Given the description of an element on the screen output the (x, y) to click on. 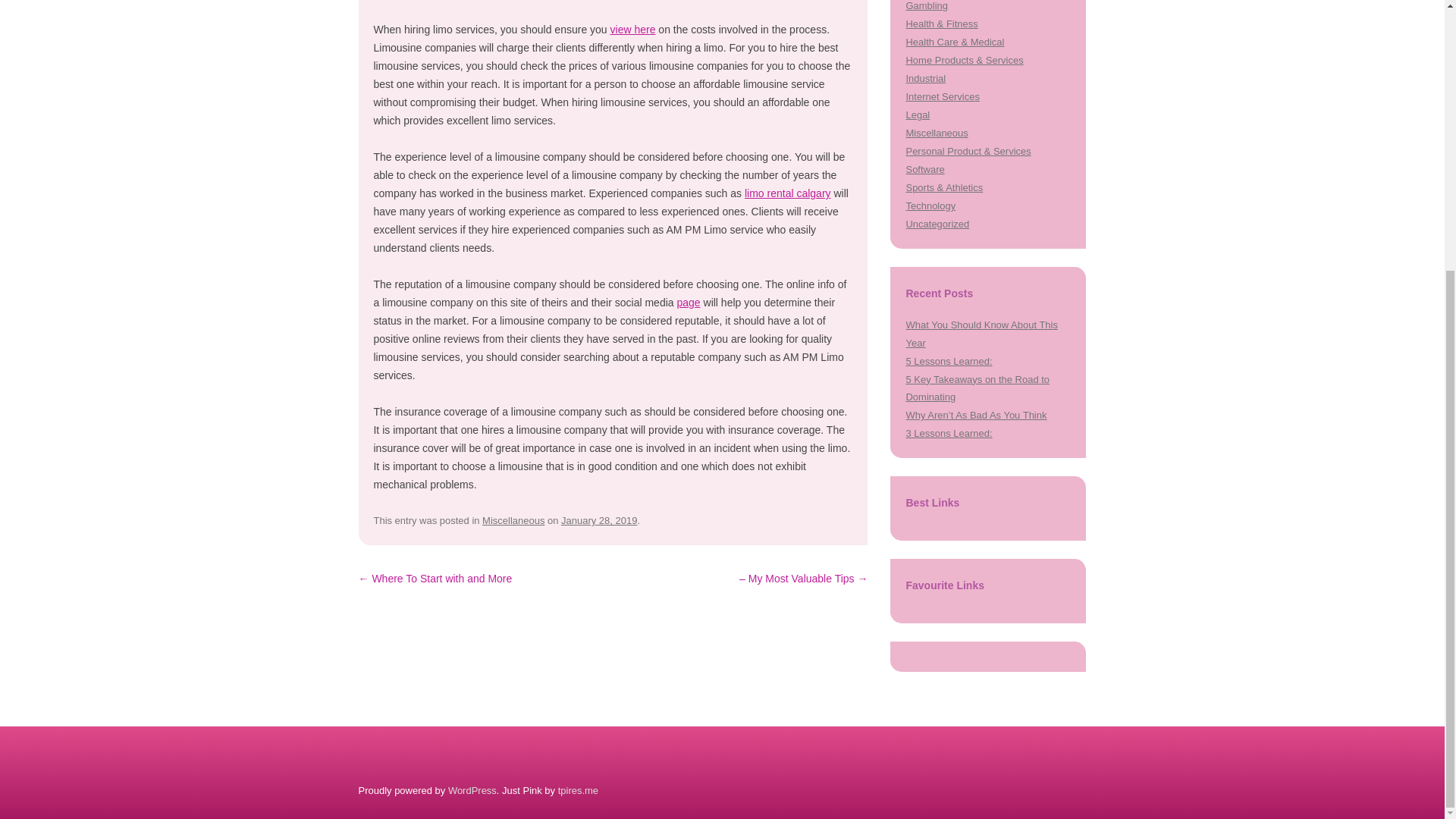
limo rental calgary (787, 193)
10:02 am (598, 520)
Miscellaneous (512, 520)
WordPress (472, 790)
Legal (917, 114)
Technology (930, 205)
Semantic Personal Publishing Platform (472, 790)
Software (924, 169)
Industrial (924, 78)
Miscellaneous (936, 132)
January 28, 2019 (598, 520)
5 Key Takeaways on the Road to Dominating (977, 387)
5 Lessons Learned: (948, 360)
What You Should Know About This Year (981, 333)
3 Lessons Learned: (948, 432)
